Given the description of an element on the screen output the (x, y) to click on. 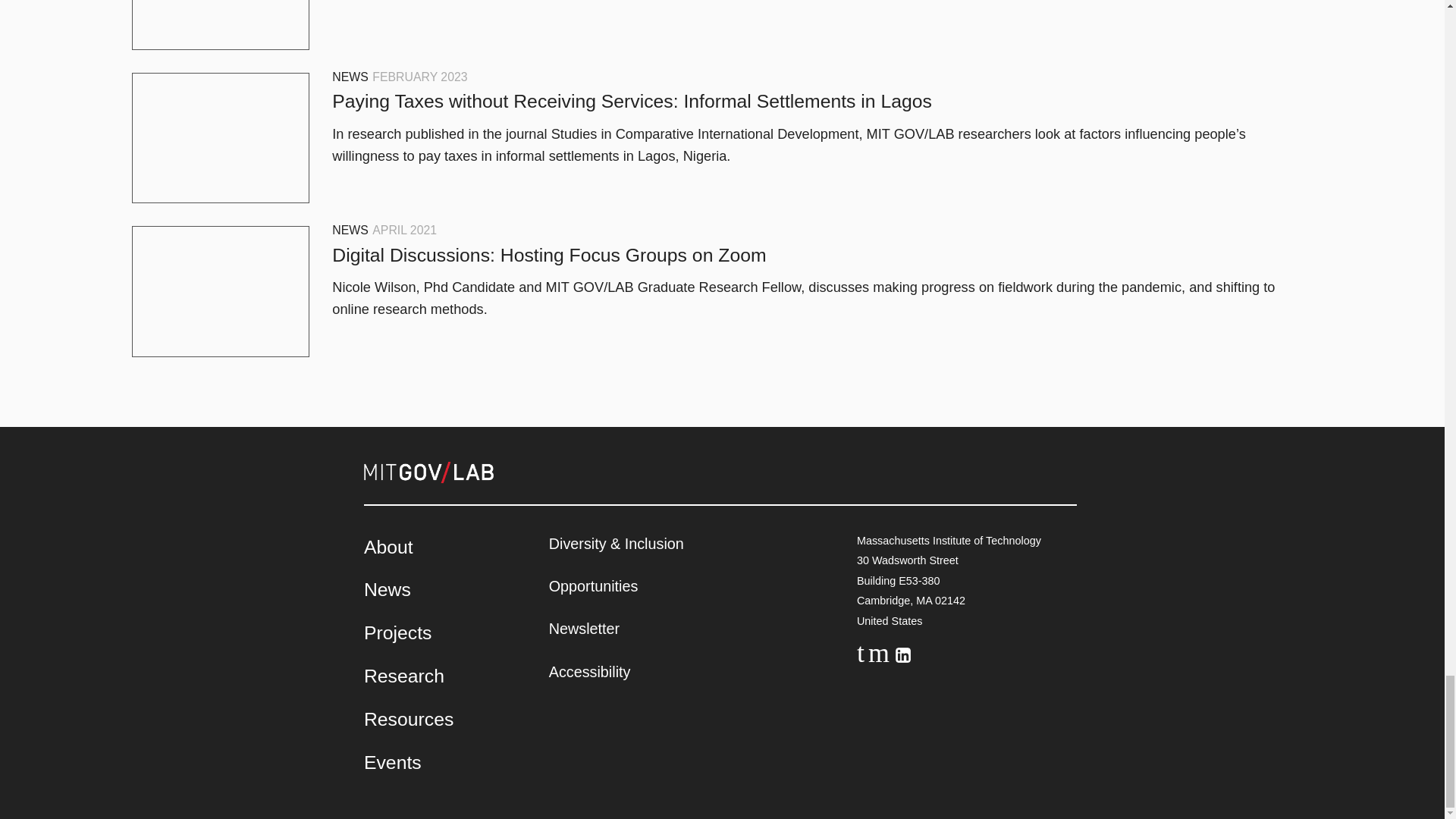
News (387, 589)
Accessibility (589, 671)
About (388, 547)
Opportunities (593, 586)
Projects (397, 632)
Resources (408, 719)
Research (404, 675)
Newsletter (584, 628)
Events (393, 762)
